Given the description of an element on the screen output the (x, y) to click on. 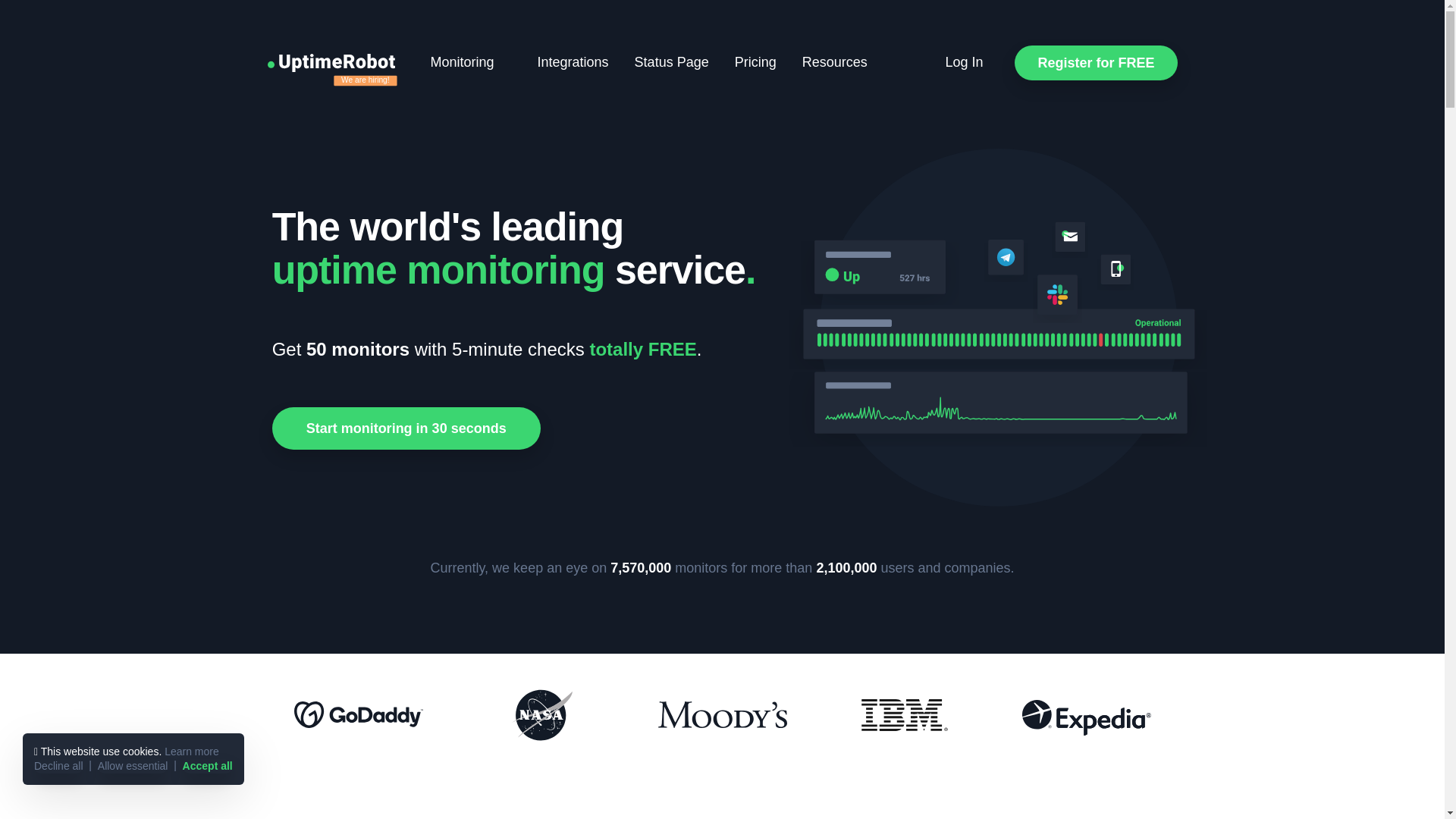
Resources (843, 61)
Integrations (572, 61)
We are hiring! (381, 83)
Start monitoring in 30 seconds (406, 428)
Status Page (671, 61)
Pricing (755, 61)
Log In (963, 61)
UptimeRobot Homepage (341, 61)
usercom widget (1406, 777)
Monitoring (470, 61)
Register for FREE (1095, 62)
